Given the description of an element on the screen output the (x, y) to click on. 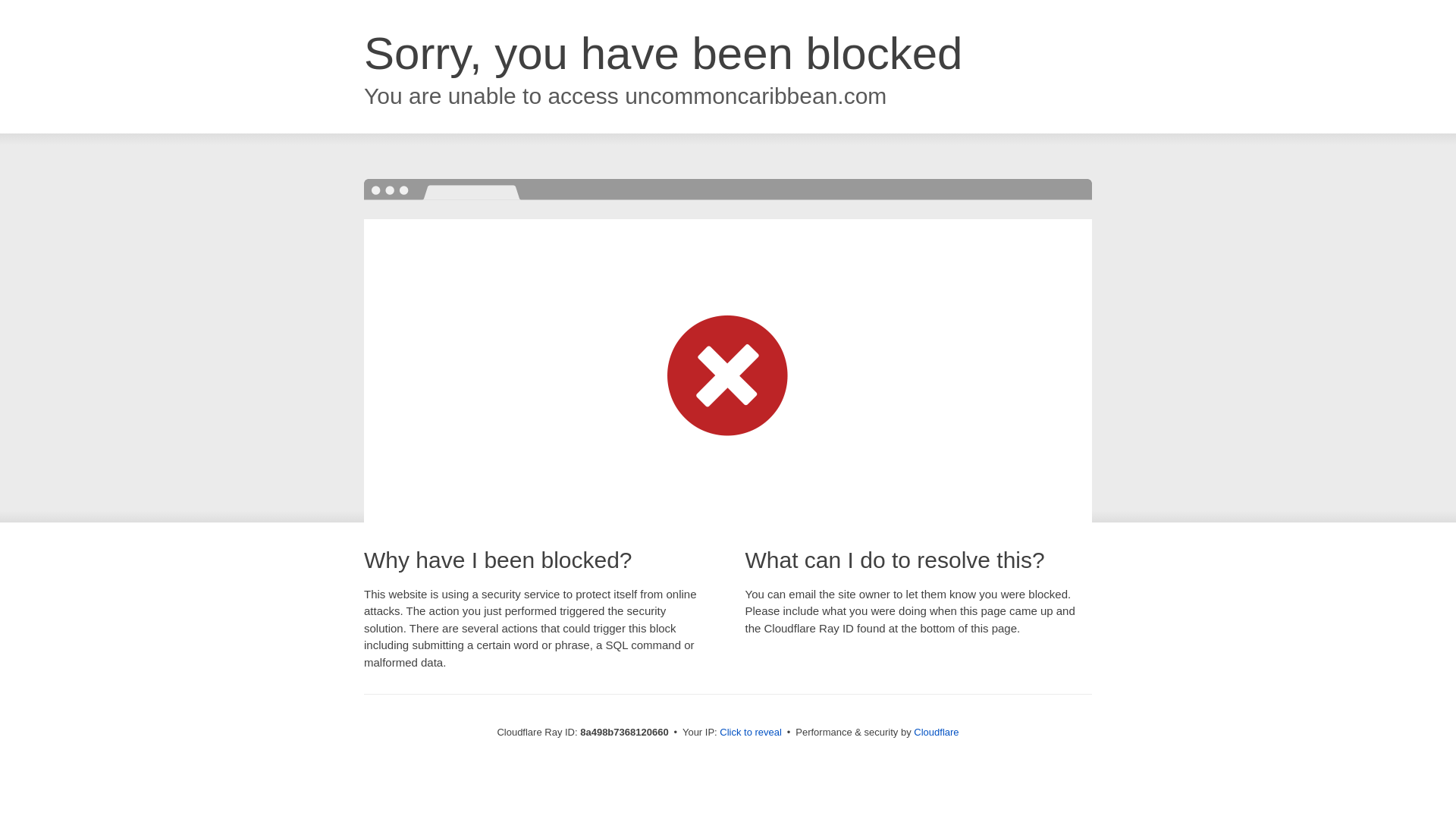
Click to reveal (750, 732)
Cloudflare (936, 731)
